Given the description of an element on the screen output the (x, y) to click on. 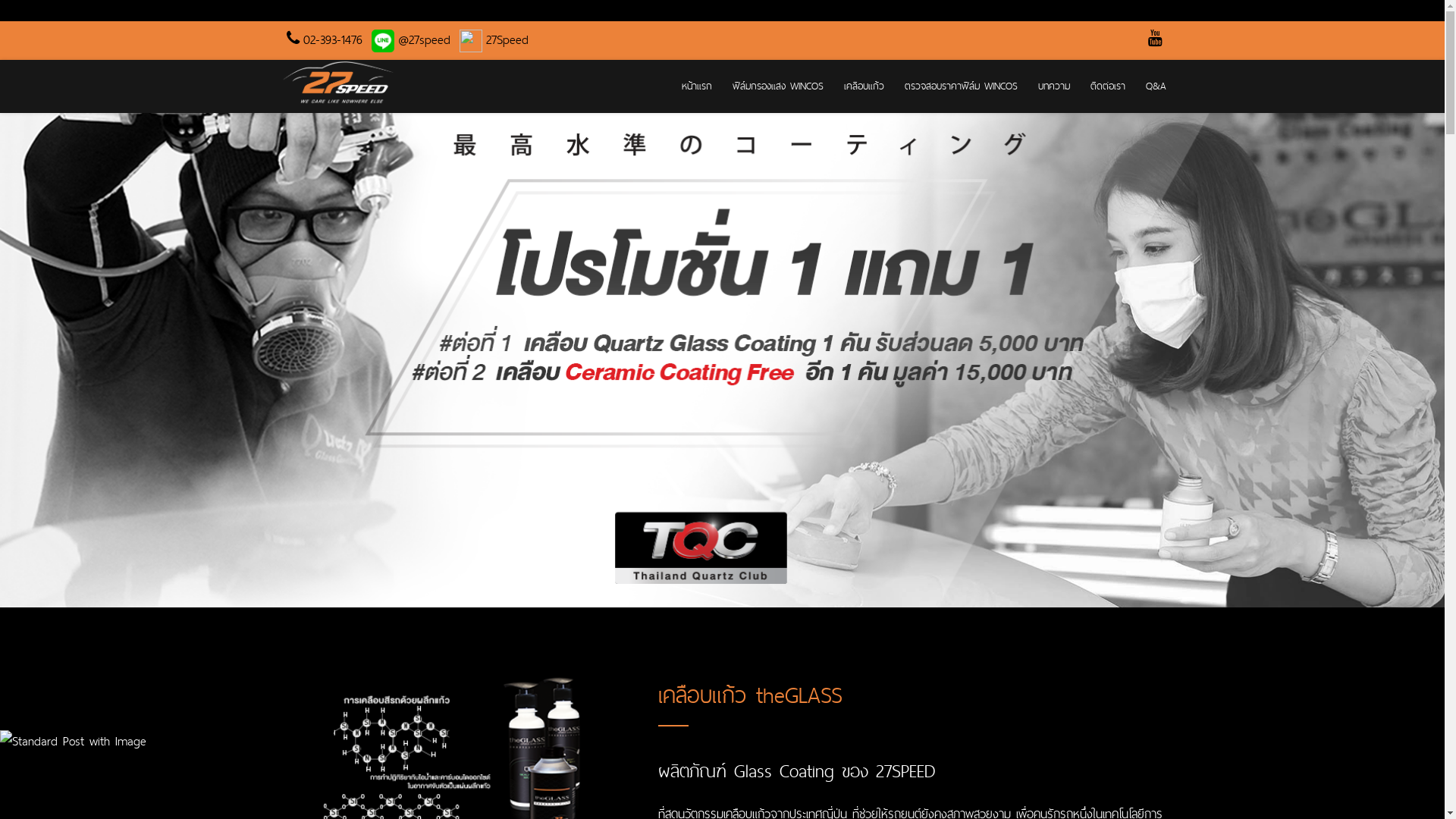
Q&A Element type: text (1151, 85)
27Speed Element type: text (491, 39)
02-393-1476 Element type: text (320, 39)
Glass Coating Element type: text (784, 770)
@27speed Element type: text (408, 39)
